Given the description of an element on the screen output the (x, y) to click on. 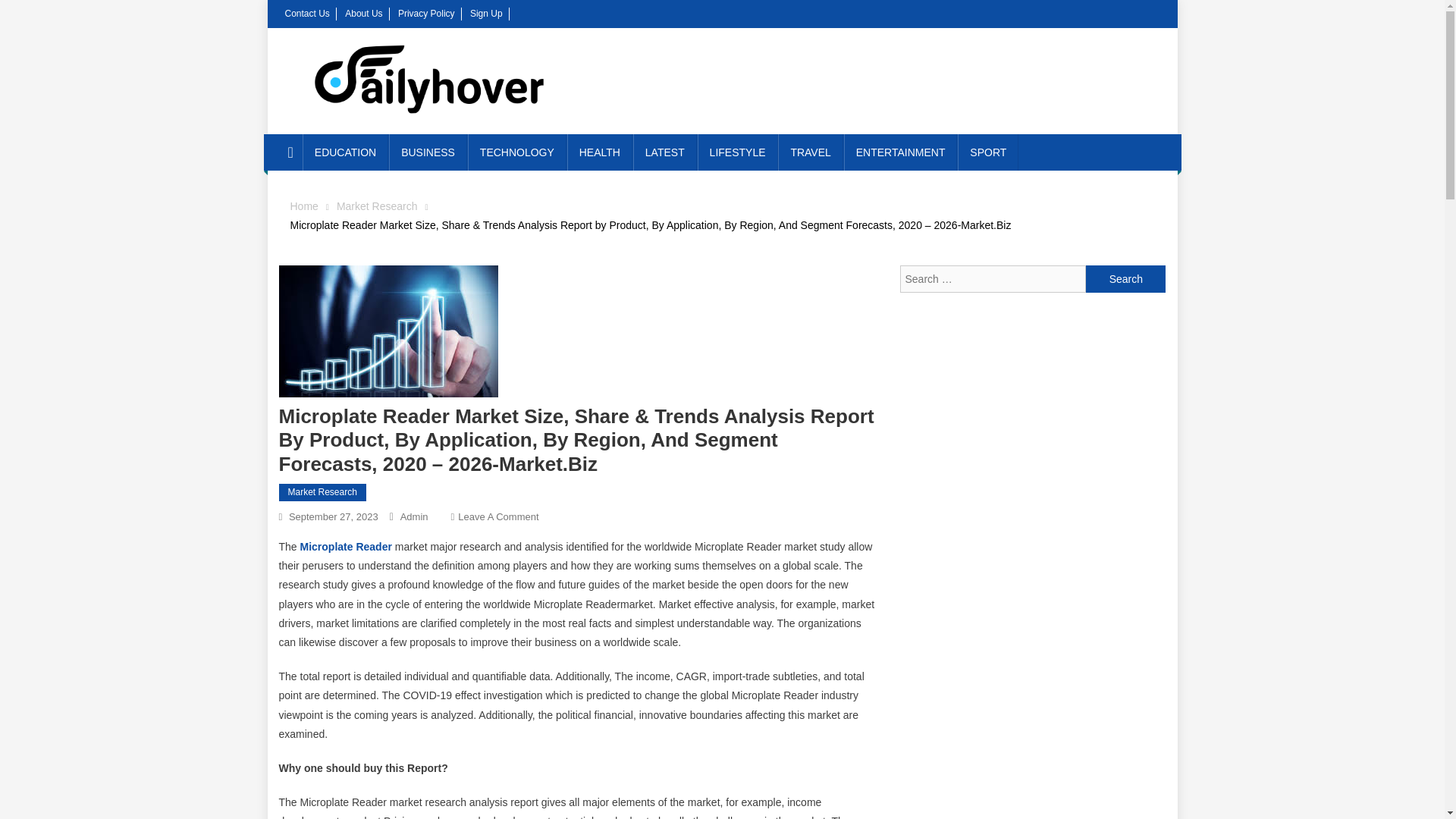
LIFESTYLE (737, 152)
HEALTH (599, 152)
Home (303, 205)
Market Research (376, 205)
ENTERTAINMENT (901, 152)
EDUCATION (345, 152)
TRAVEL (810, 152)
September 27, 2023 (333, 516)
Market Research (322, 493)
Microplate Reader (345, 546)
